Given the description of an element on the screen output the (x, y) to click on. 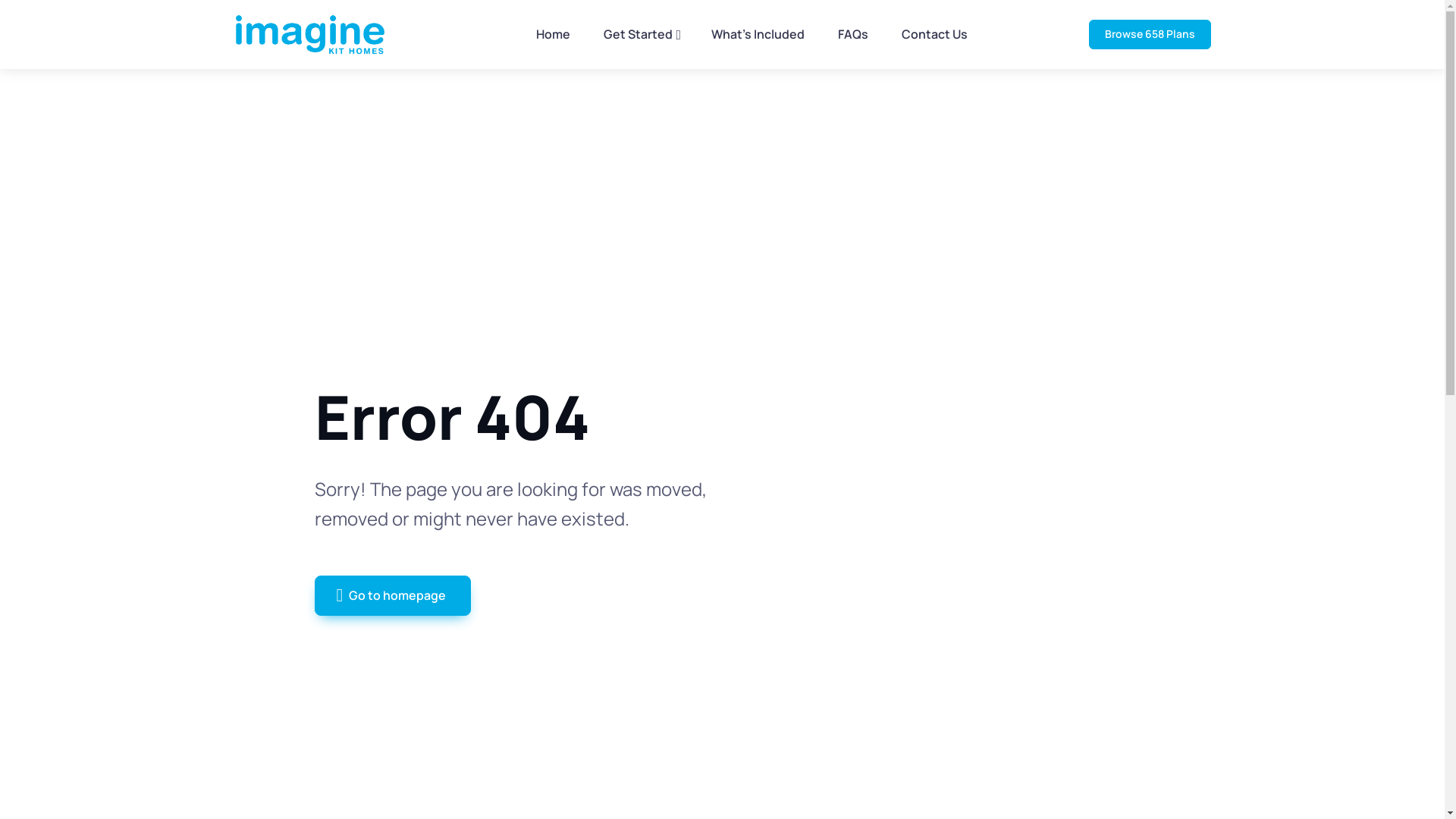
Home Element type: text (552, 34)
FAQs Element type: text (852, 34)
Contact Us Element type: text (934, 34)
What's Included Element type: text (757, 34)
Browse 658 Plans Element type: text (1149, 34)
Go to homepage Element type: text (391, 595)
Get Started Element type: text (640, 34)
